Given the description of an element on the screen output the (x, y) to click on. 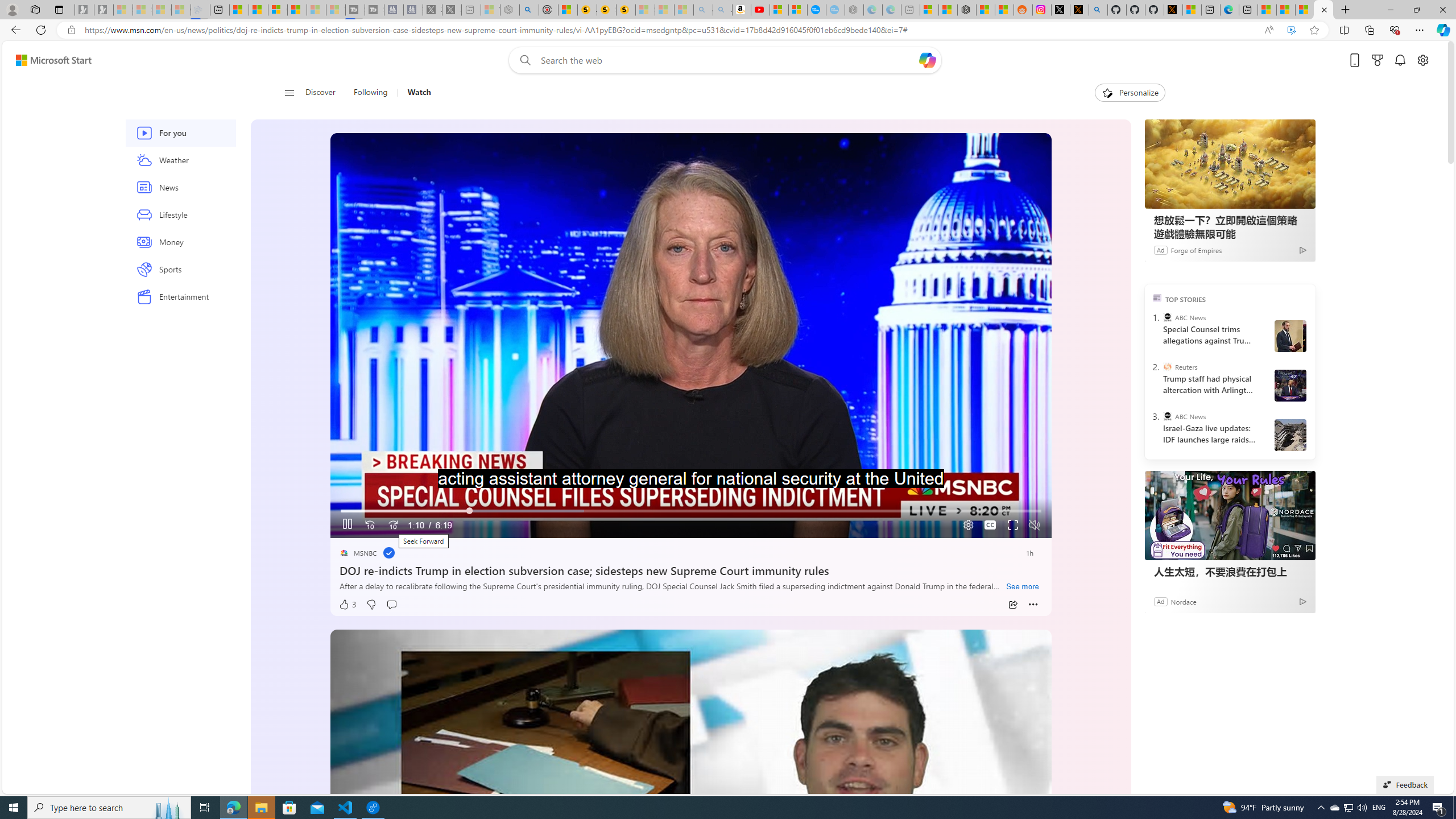
3 Like (347, 604)
X Privacy Policy (1173, 9)
To get missing image descriptions, open the context menu. (1106, 92)
Ad Choice (1303, 601)
Feedback (1404, 784)
